Given the description of an element on the screen output the (x, y) to click on. 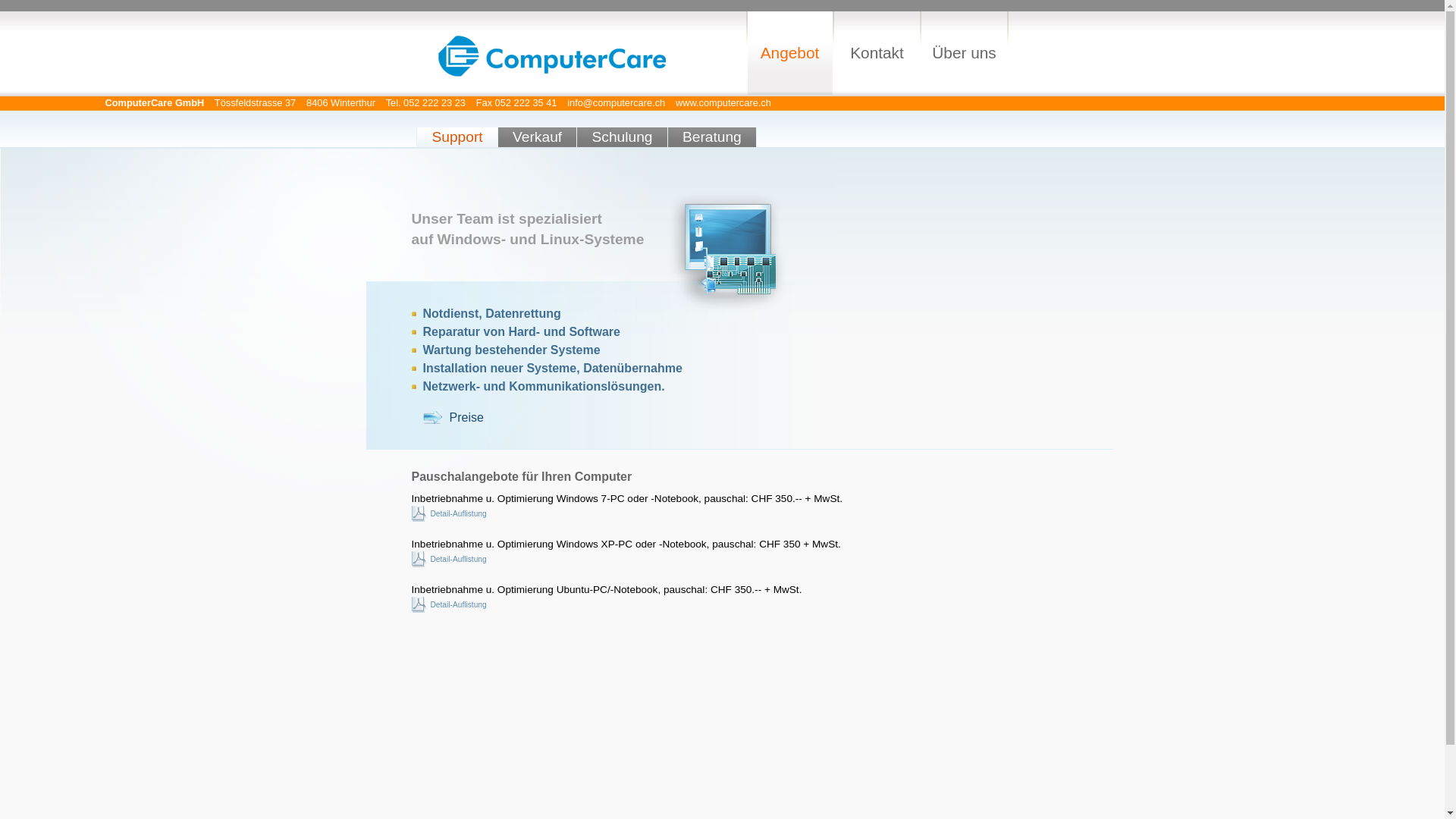
Support Element type: text (457, 137)
Detail-Auflistung Element type: text (448, 513)
Kontakt Element type: text (876, 52)
Detail-Auflistung Element type: text (448, 604)
Verkauf Element type: text (537, 137)
Schulung Element type: text (621, 137)
Detail-Auflistung Element type: text (448, 559)
Beratung Element type: text (712, 137)
Preise Element type: text (453, 417)
Angebot Element type: text (789, 52)
info@computercare.ch Element type: text (614, 102)
